Given the description of an element on the screen output the (x, y) to click on. 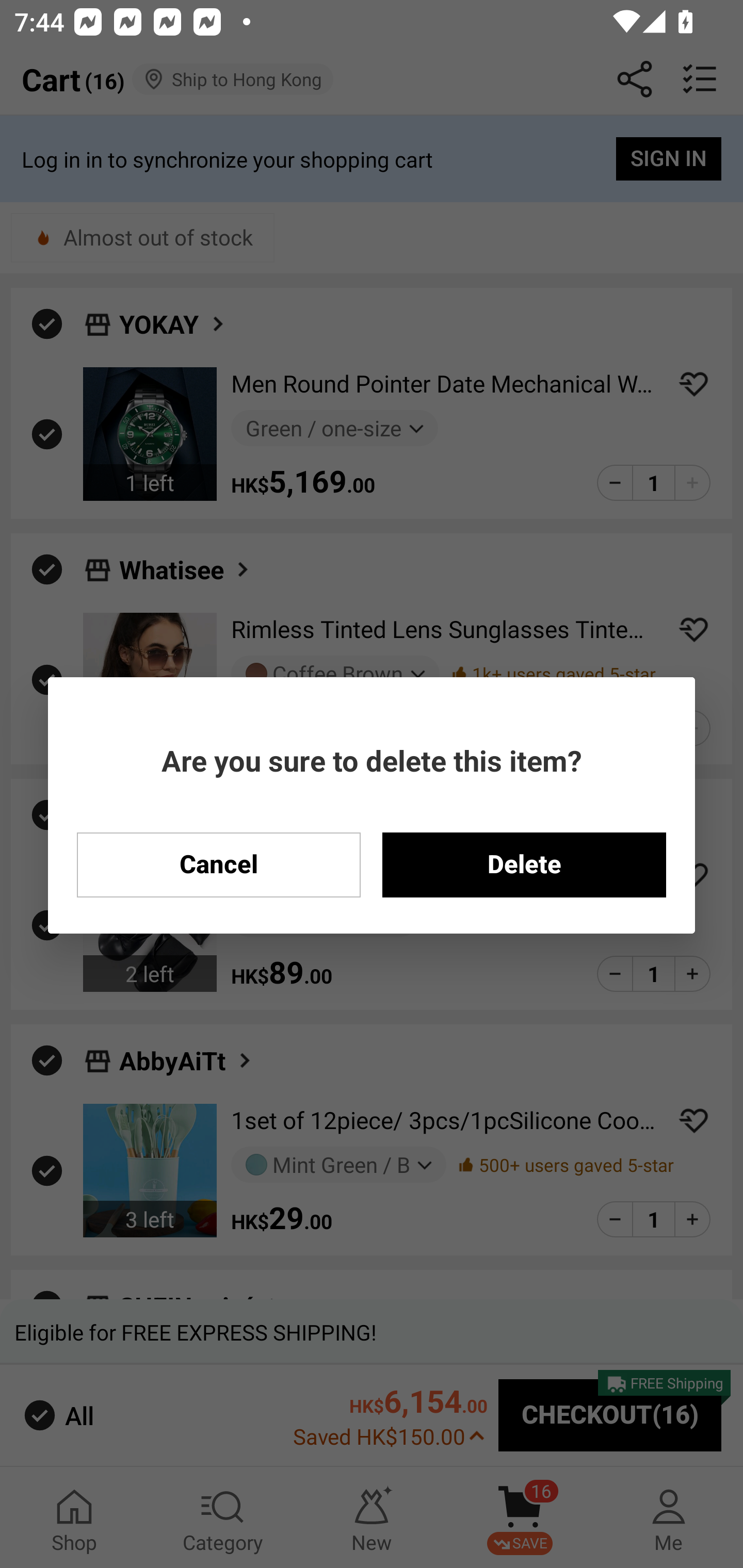
Are you sure to delete this item? (371, 760)
Cancel (218, 864)
Delete (524, 864)
